Given the description of an element on the screen output the (x, y) to click on. 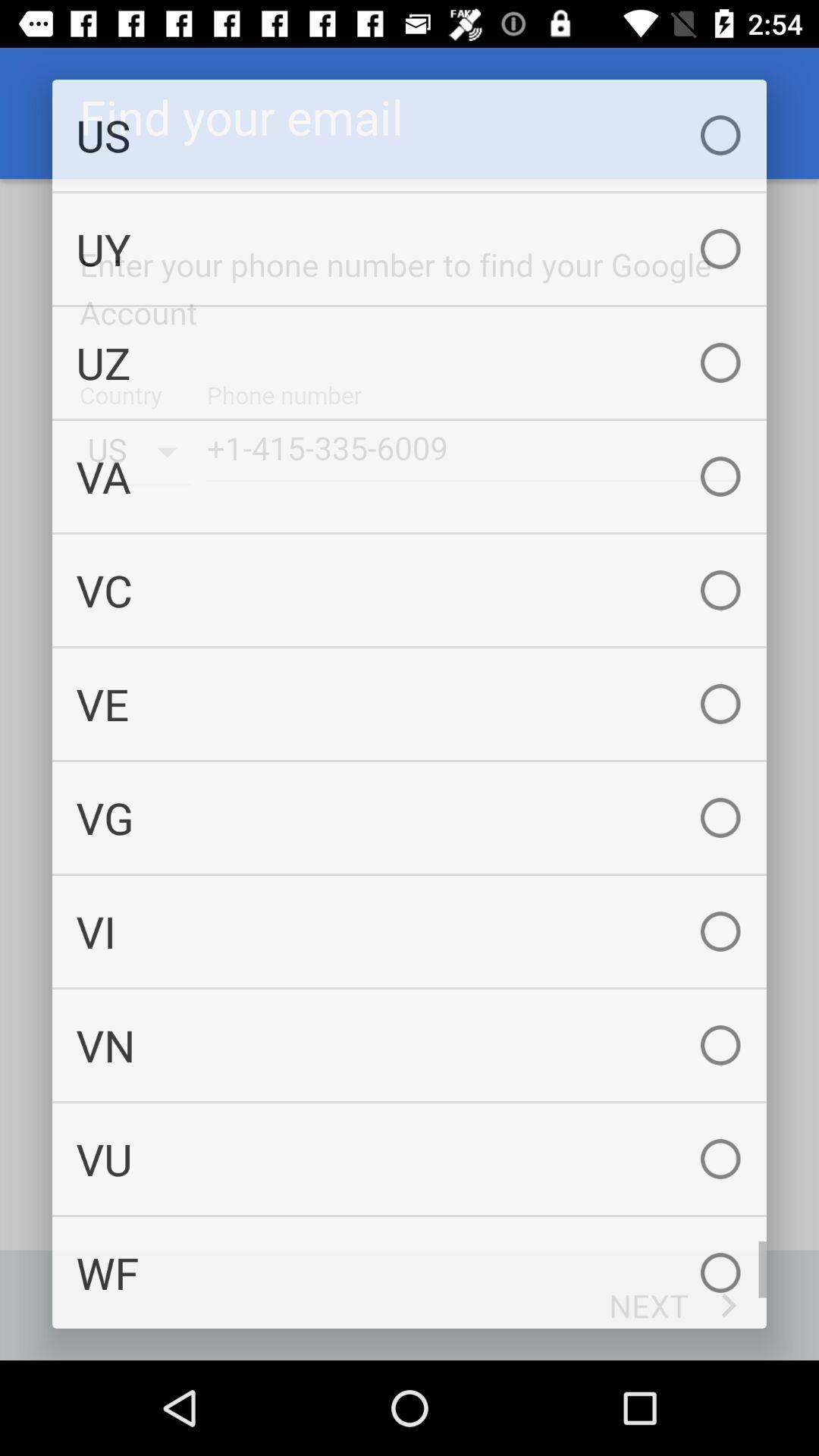
press the checkbox above uy checkbox (409, 135)
